Given the description of an element on the screen output the (x, y) to click on. 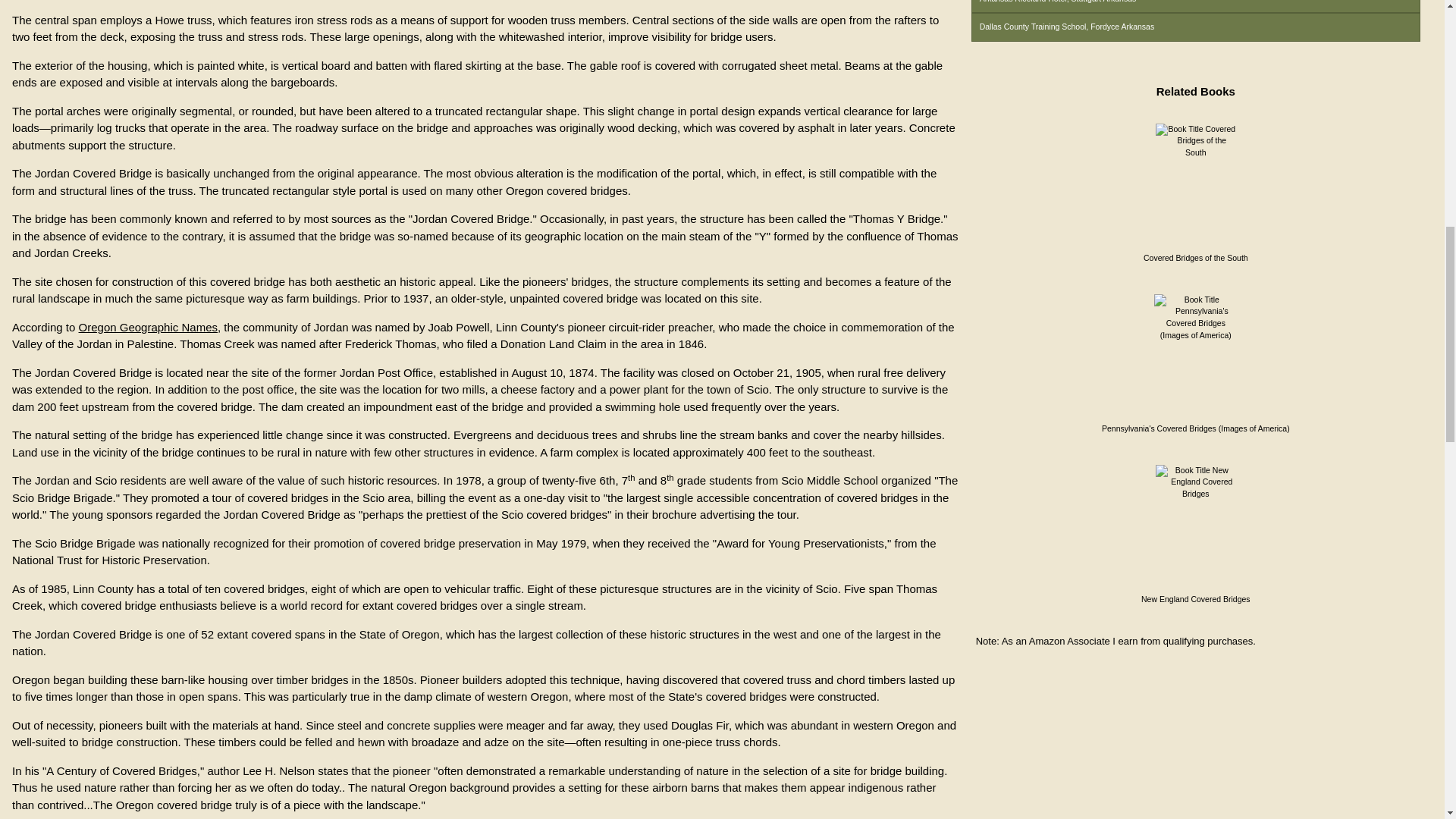
Dallas County Training School, Fordyce Arkansas (1196, 27)
Arkansas Riceland Hotel, Stuttgart Arkansas (1196, 6)
